Given the description of an element on the screen output the (x, y) to click on. 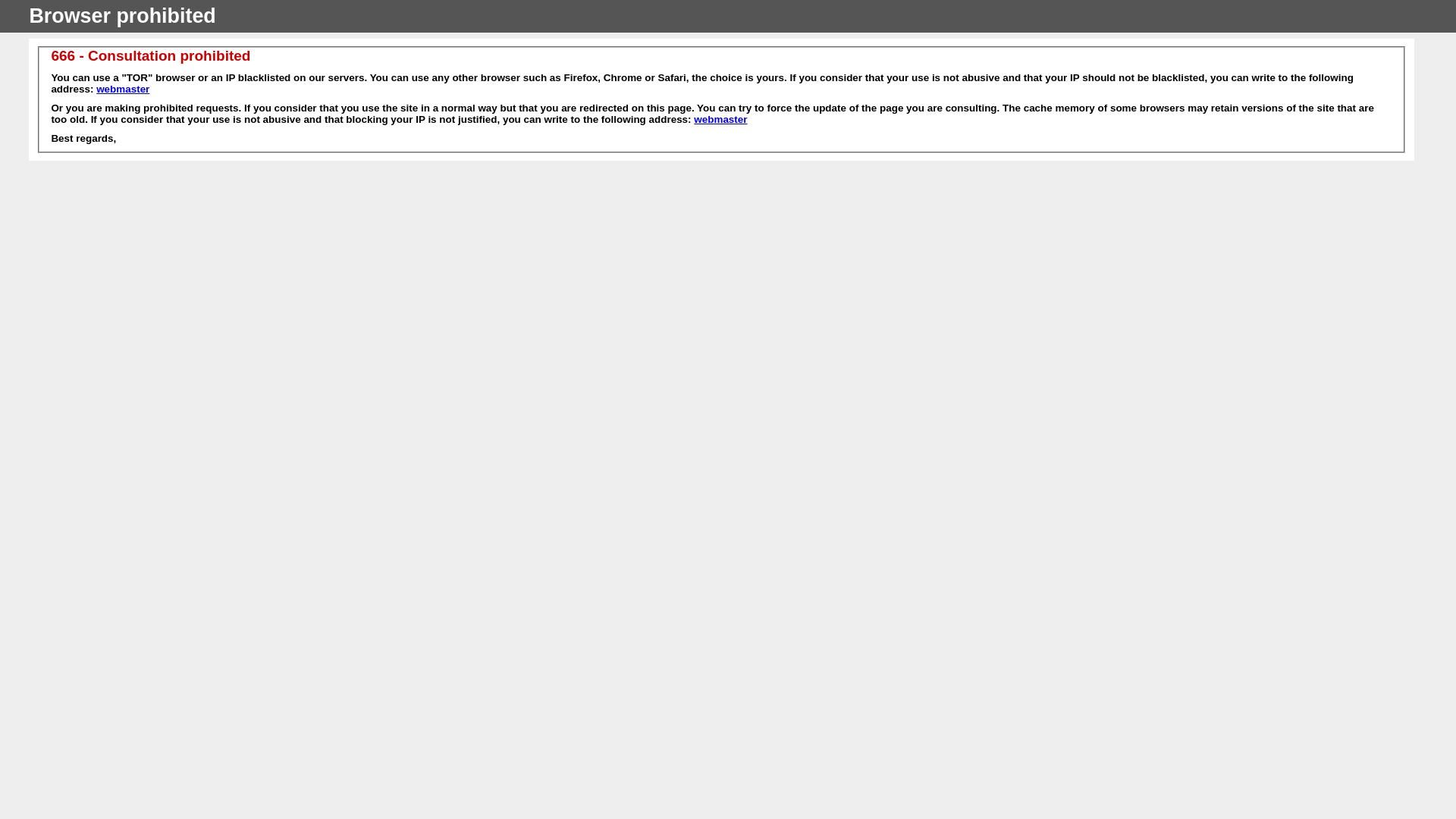
webmaster Element type: text (122, 88)
webmaster Element type: text (719, 119)
